Given the description of an element on the screen output the (x, y) to click on. 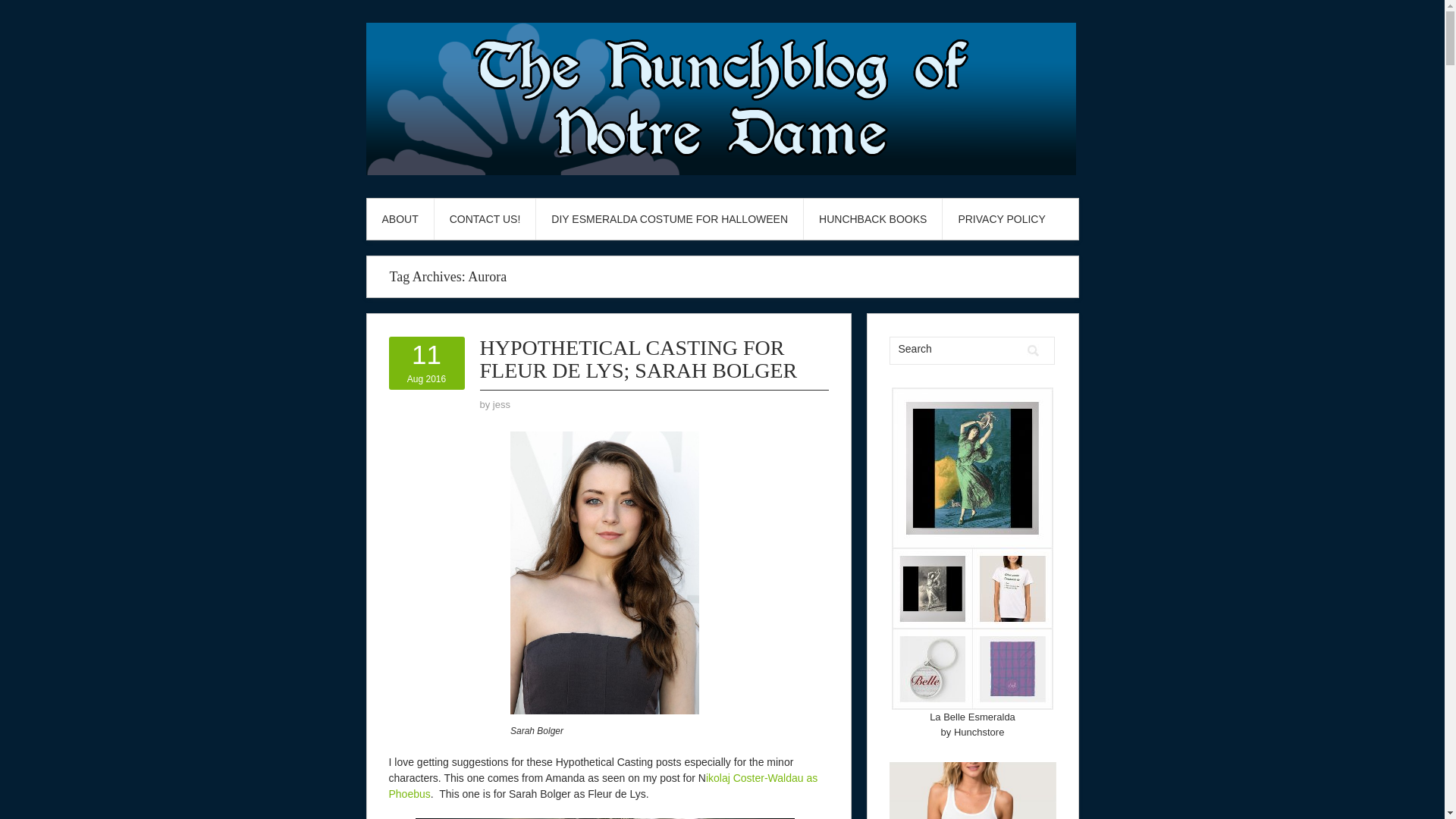
Search (426, 363)
HUNCHBACK BOOKS (954, 348)
ikolaj Coster-Waldau as Phoebus (872, 219)
ABOUT (602, 786)
jess (399, 219)
CONTACT US! (502, 404)
HYPOTHETICAL CASTING FOR FLEUR DE LYS; SARAH BOLGER (484, 219)
PRIVACY POLICY (637, 358)
